Given the description of an element on the screen output the (x, y) to click on. 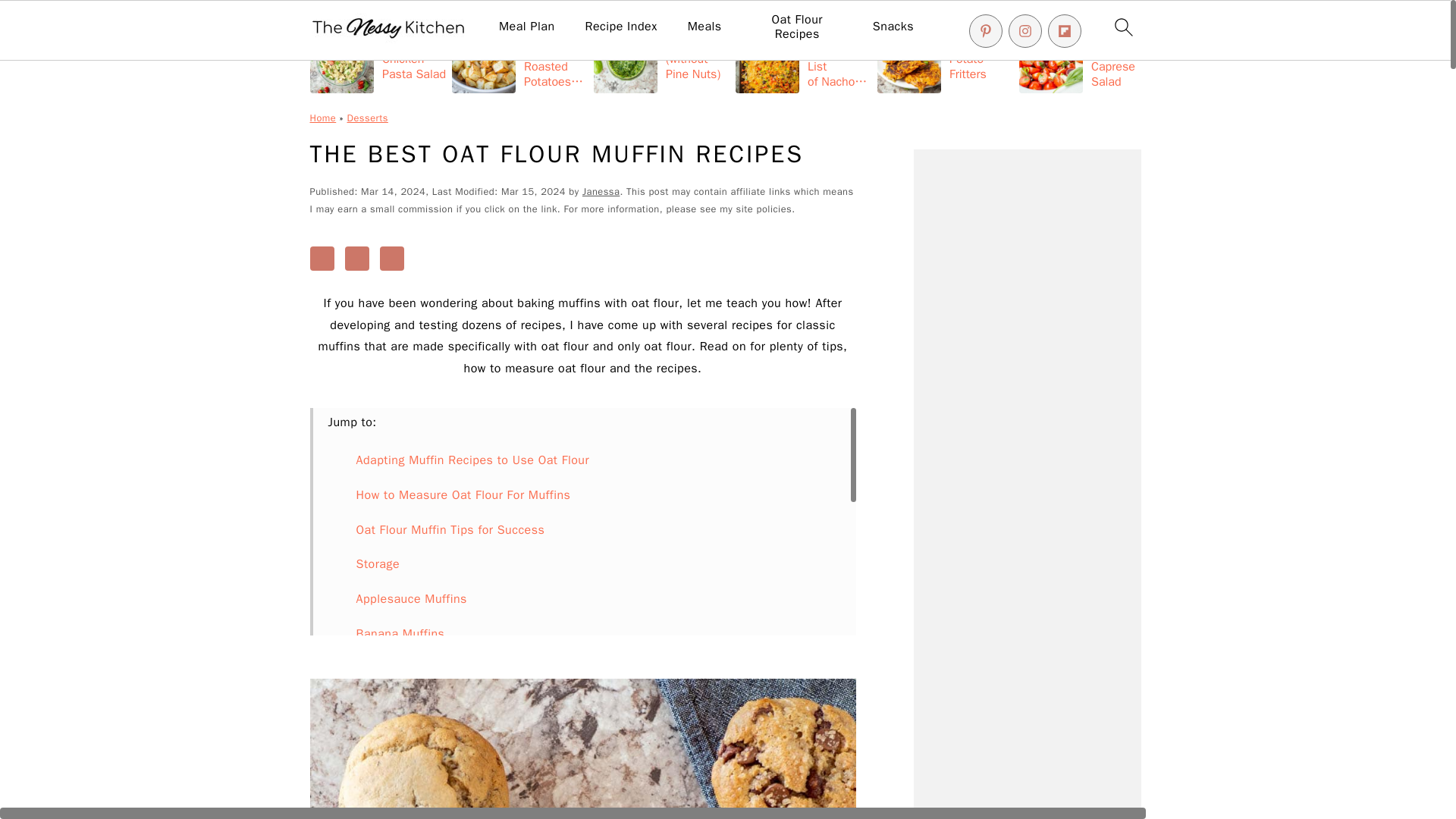
Share on X (357, 258)
Meal Plan (526, 26)
Meals (704, 26)
Oat Flour Recipes (797, 27)
Recipe Index (621, 26)
Share on Facebook (320, 258)
Send over email (392, 258)
search icon (1122, 26)
Snacks (893, 26)
